Given the description of an element on the screen output the (x, y) to click on. 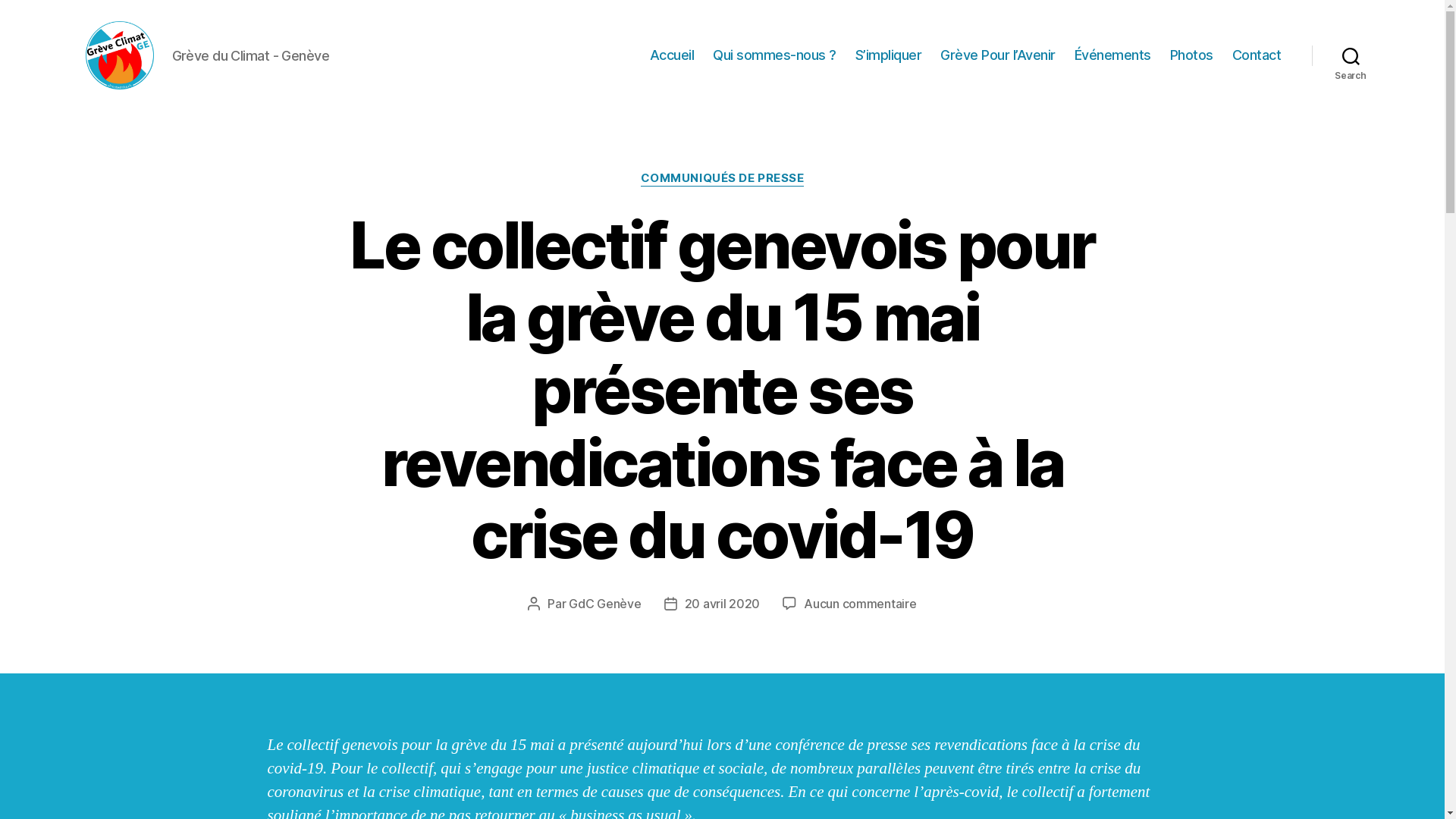
Contact Element type: text (1256, 55)
Qui sommes-nous ? Element type: text (774, 55)
Search Element type: text (1350, 55)
Photos Element type: text (1191, 55)
Accueil Element type: text (671, 55)
20 avril 2020 Element type: text (722, 603)
